Given the description of an element on the screen output the (x, y) to click on. 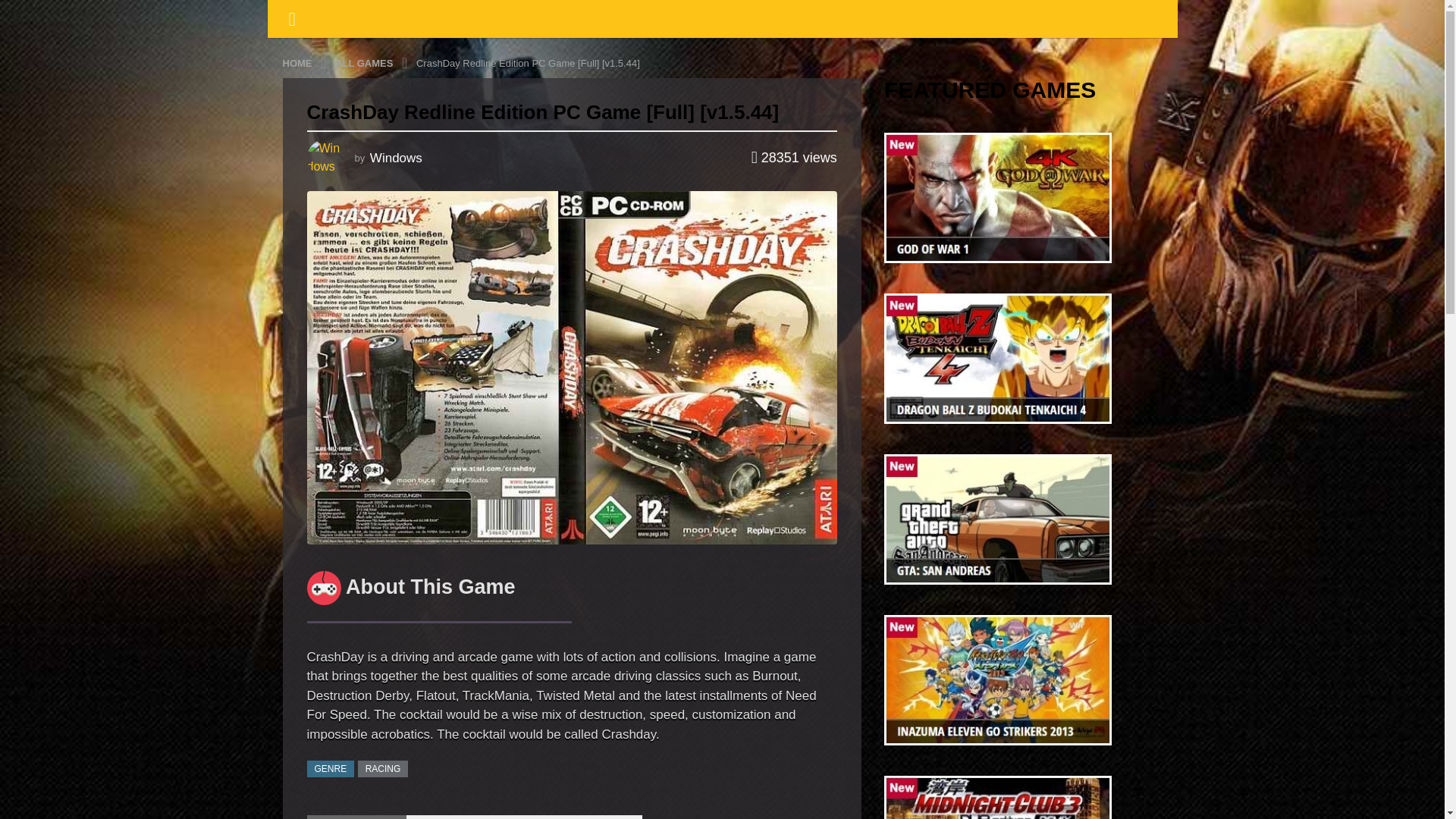
Action (364, 17)
Arcade (823, 17)
Anime (693, 17)
Horror (629, 17)
ALL GAMES (365, 61)
Casual (934, 17)
Fighting (562, 17)
ALL (307, 17)
Puzzle (757, 17)
ALL (307, 17)
Anime (693, 17)
Sports (427, 17)
Arcade (823, 17)
FPS (1080, 17)
